Given the description of an element on the screen output the (x, y) to click on. 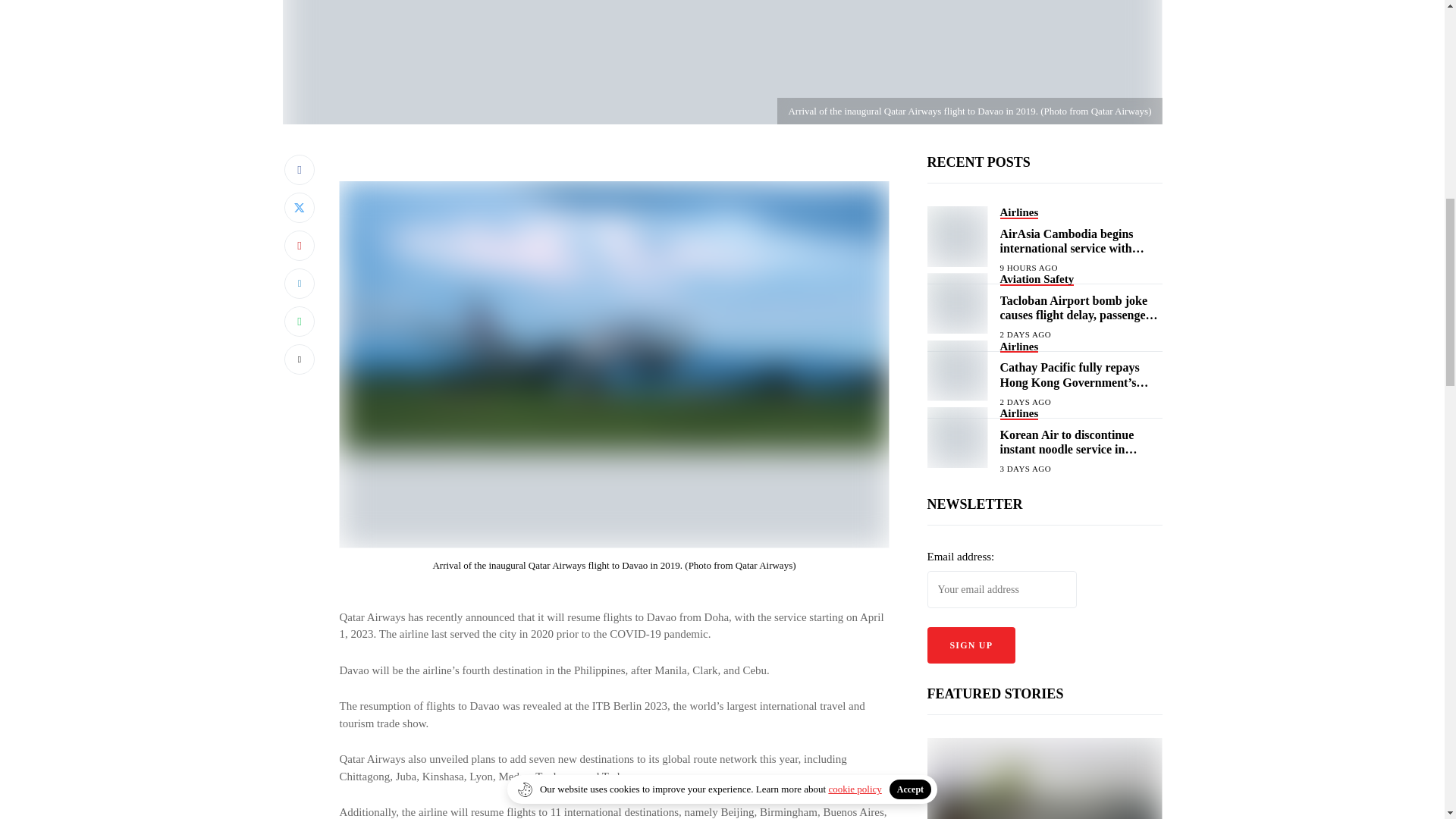
Sign up (970, 645)
